Given the description of an element on the screen output the (x, y) to click on. 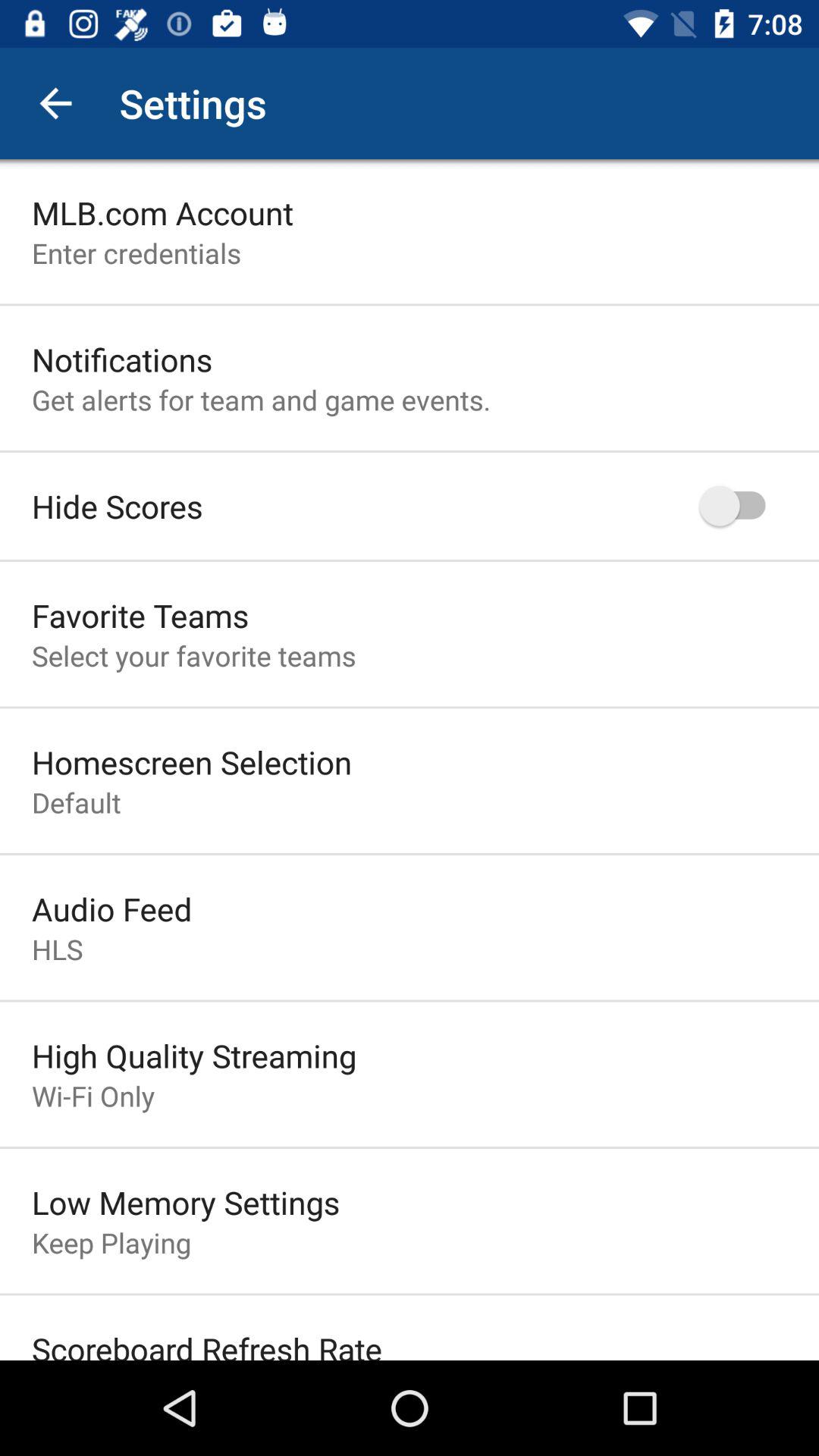
select icon next to settings app (55, 103)
